Given the description of an element on the screen output the (x, y) to click on. 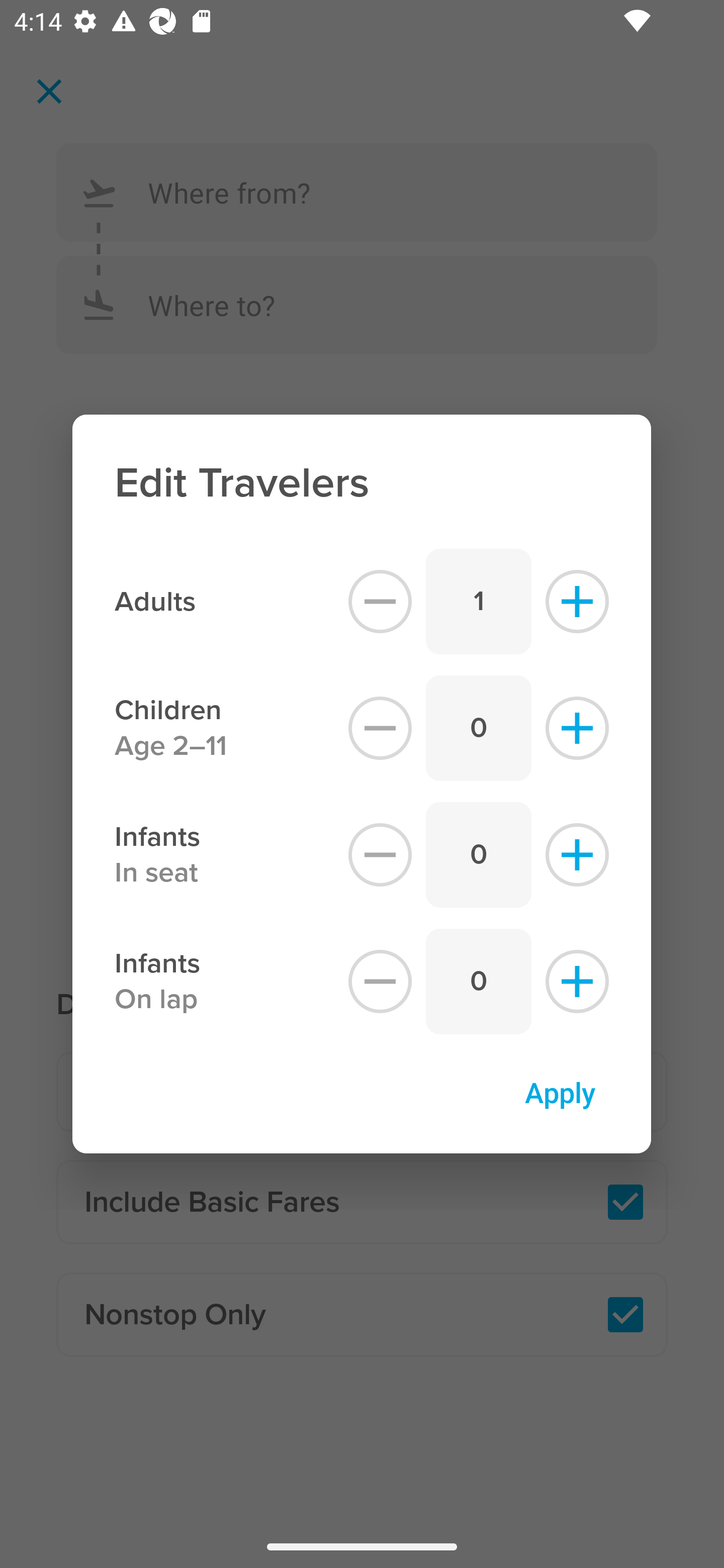
Decrease value (379, 600)
Increase value (576, 600)
Decrease value (379, 727)
Increase value (576, 727)
Decrease value (379, 854)
Increase value (576, 854)
Decrease value (379, 981)
Increase value (576, 981)
Apply (559, 1091)
